Given the description of an element on the screen output the (x, y) to click on. 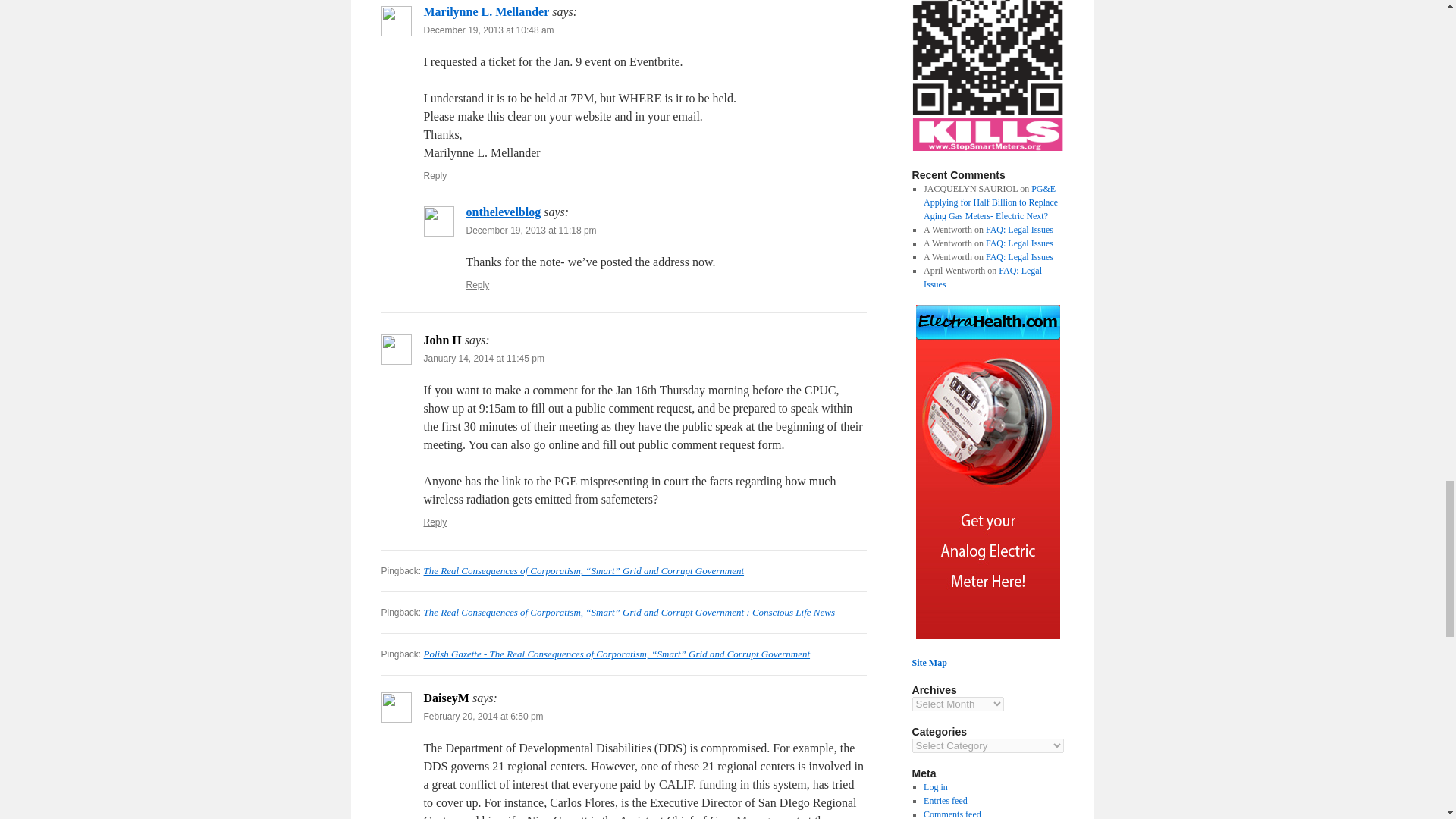
Marilynne L. Mellander (485, 11)
